Given the description of an element on the screen output the (x, y) to click on. 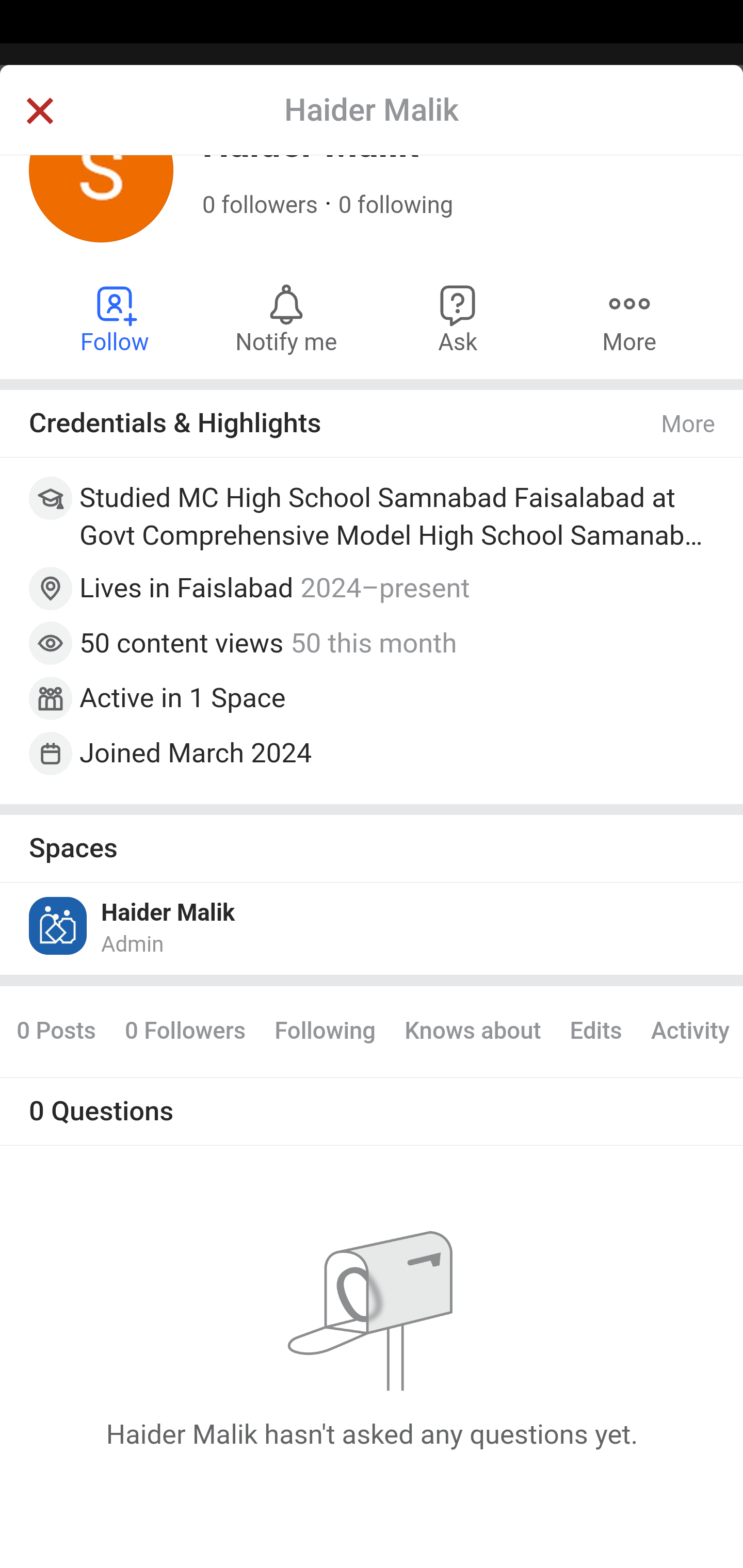
Back Answer (371, 125)
 (39, 112)
Follow Haider Malik Follow (115, 319)
Notify me (285, 319)
Ask (458, 319)
More (628, 319)
More (688, 425)
Icon for Haider Malik (58, 926)
Haider Malik (168, 913)
0 Posts (63, 1032)
0 Followers (184, 1032)
Following (325, 1032)
Knows about (473, 1032)
Edits (595, 1032)
Activity (689, 1032)
